Given the description of an element on the screen output the (x, y) to click on. 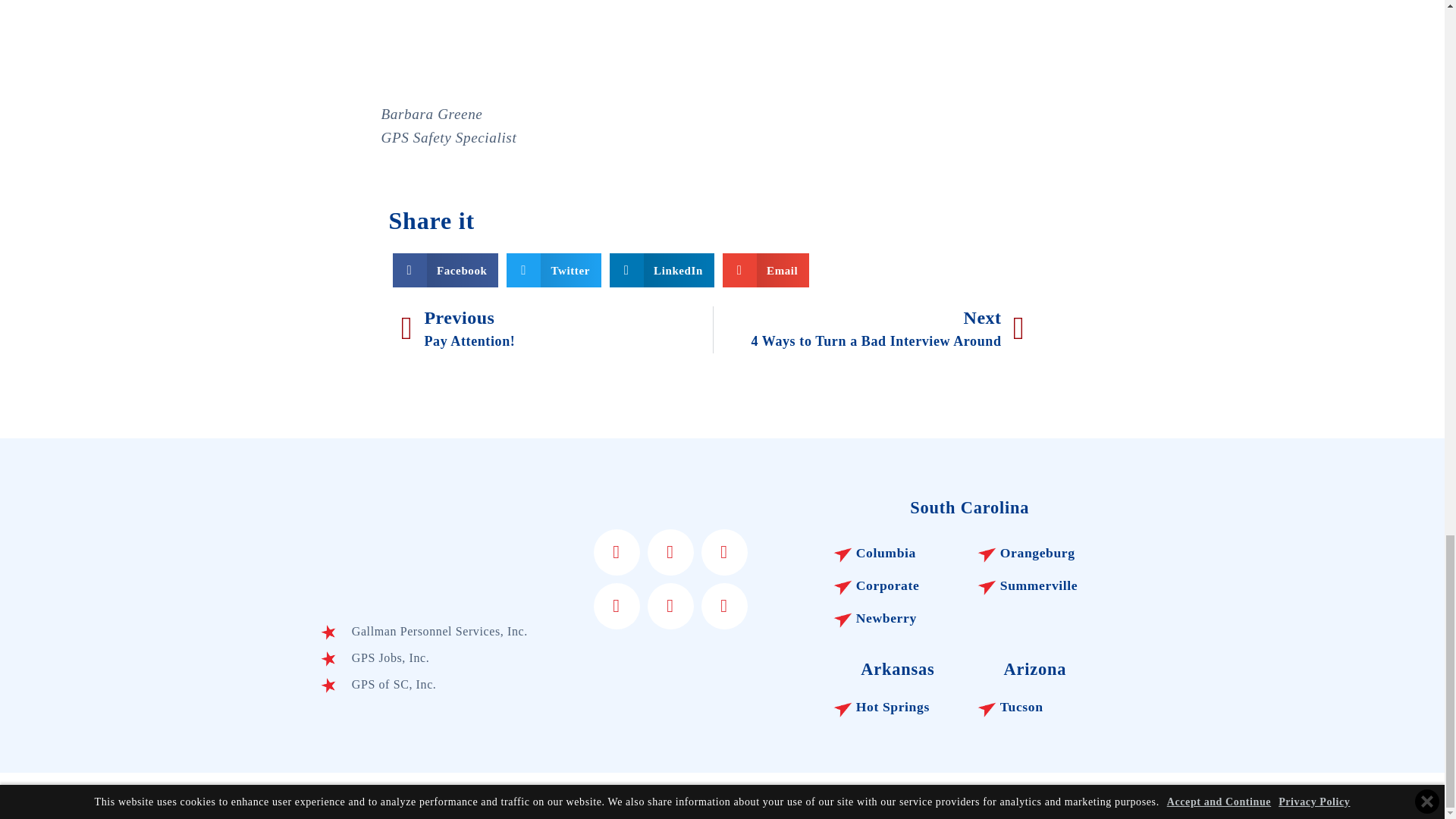
Follow GPS on Pinterest (670, 606)
Follow GPS on Twitter (670, 551)
Connect with GPS on LinkedIn (724, 551)
Follow GPS on Instagram (724, 606)
Follow GPS on Facebook (616, 551)
Subscribe to GPS on YouTube (616, 606)
